Given the description of an element on the screen output the (x, y) to click on. 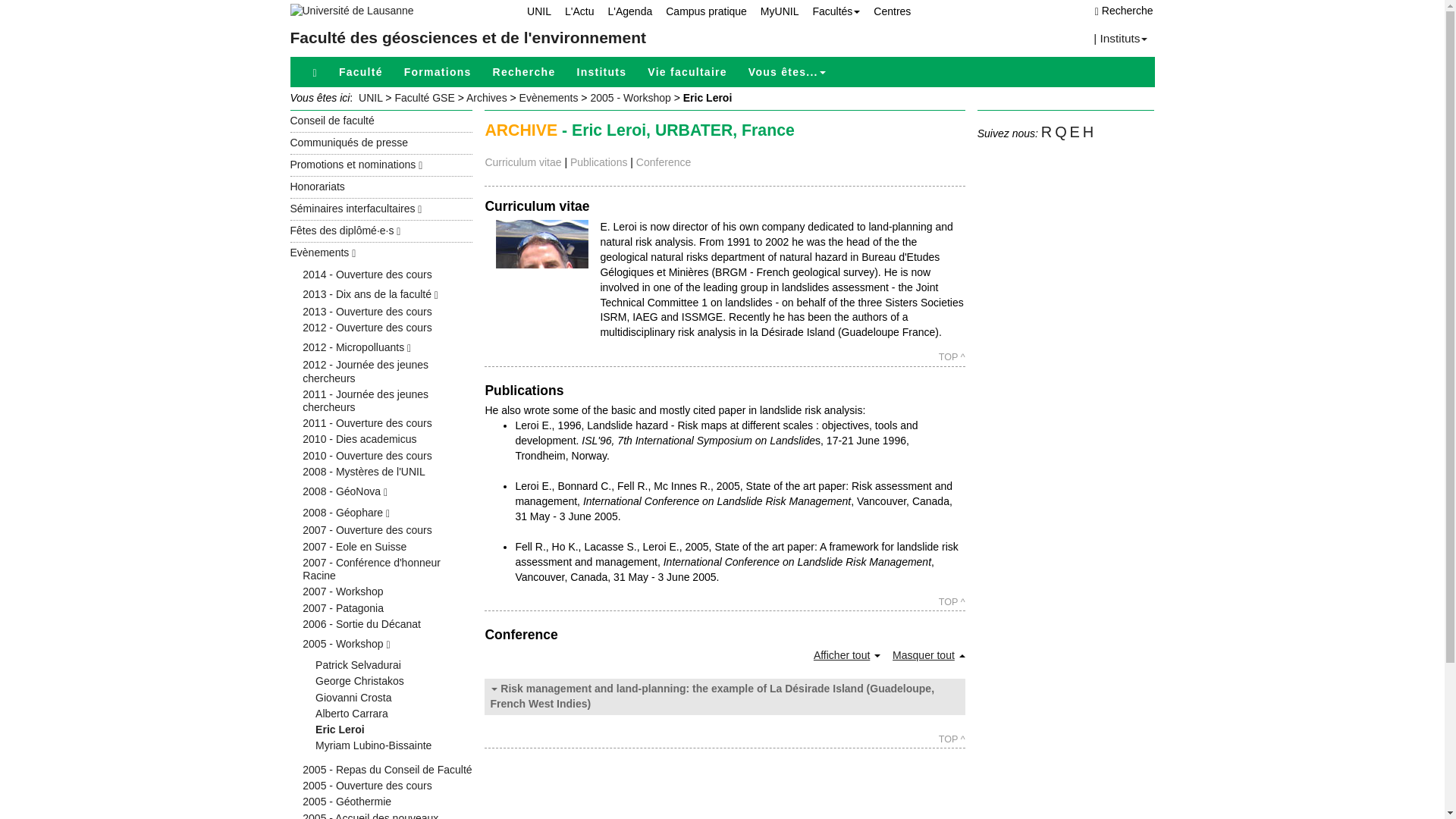
Campus pratique (699, 10)
UNIL (532, 10)
L'Actu (572, 10)
Formations (437, 71)
Instituts (601, 71)
L'Agenda (623, 10)
Recherche (523, 71)
Centres (885, 10)
MyUNIL (772, 10)
